Given the description of an element on the screen output the (x, y) to click on. 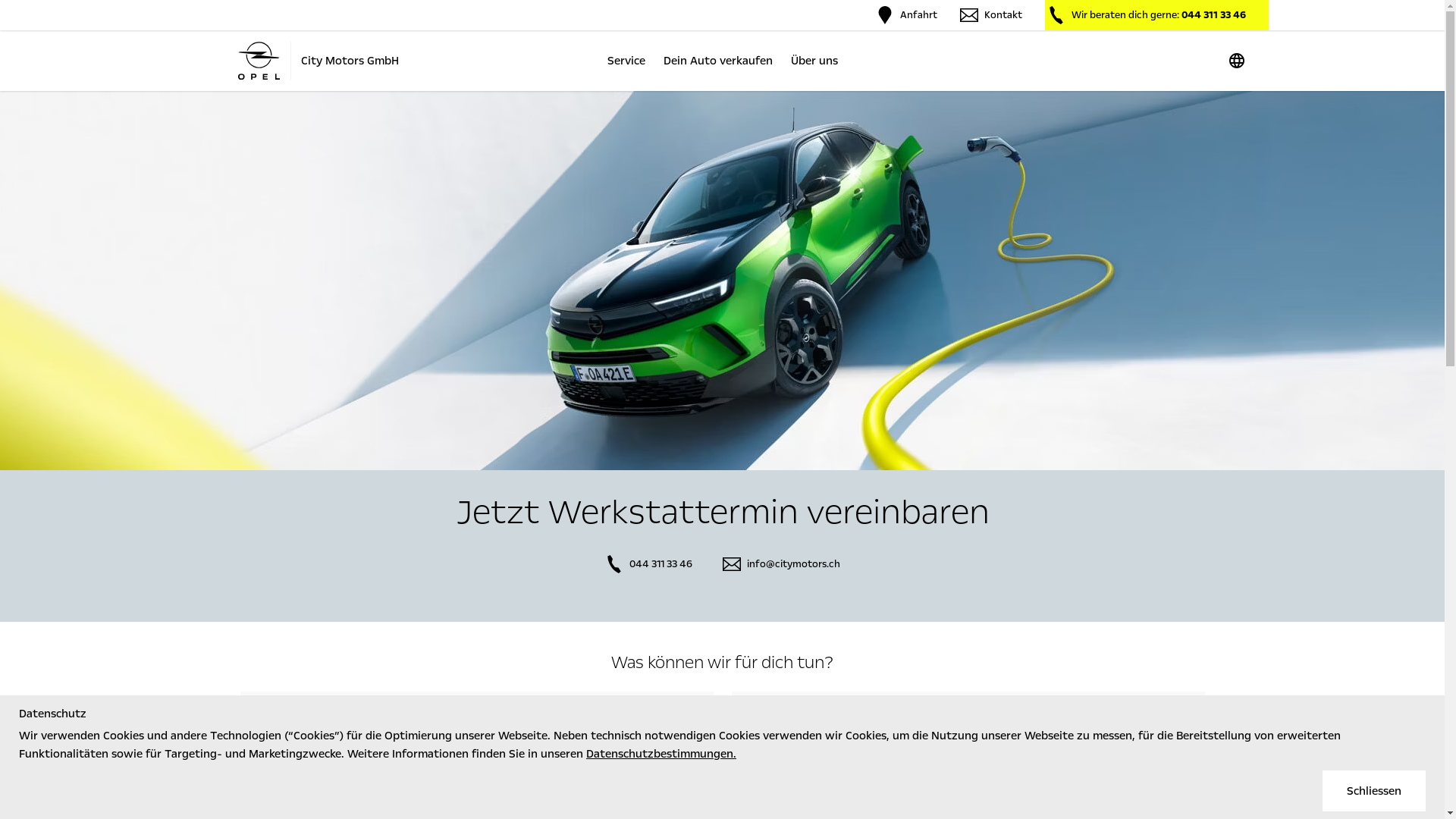
So findest du uns Element type: text (475, 726)
info@citymotors.ch Element type: text (780, 564)
Kontakt Element type: text (991, 15)
Deine Ansprechpartner Element type: text (967, 726)
Dein Auto verkaufen Element type: text (717, 60)
Schliessen Element type: text (1373, 790)
Datenschutzbestimmungen. Element type: text (661, 753)
City Motors GmbH Element type: text (317, 60)
Wir beraten dich gerne: 
044 311 33 46 Element type: text (1156, 15)
Service Element type: text (625, 60)
044 311 33 46 Element type: text (648, 564)
Hero Image der Opel Dealer Website Element type: hover (722, 280)
Anfahrt Element type: text (905, 15)
